Given the description of an element on the screen output the (x, y) to click on. 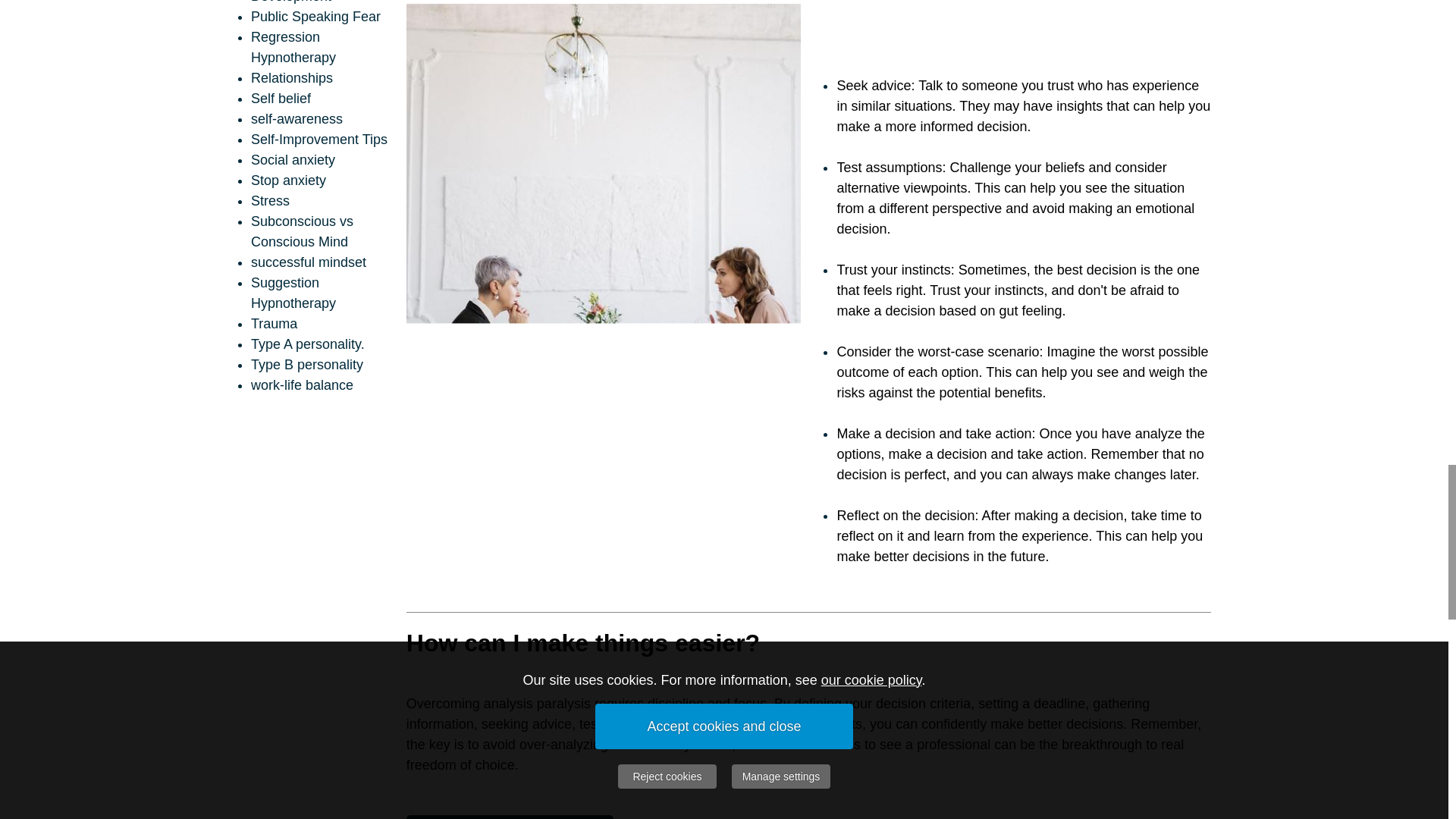
Find out how we can help (509, 816)
